Given the description of an element on the screen output the (x, y) to click on. 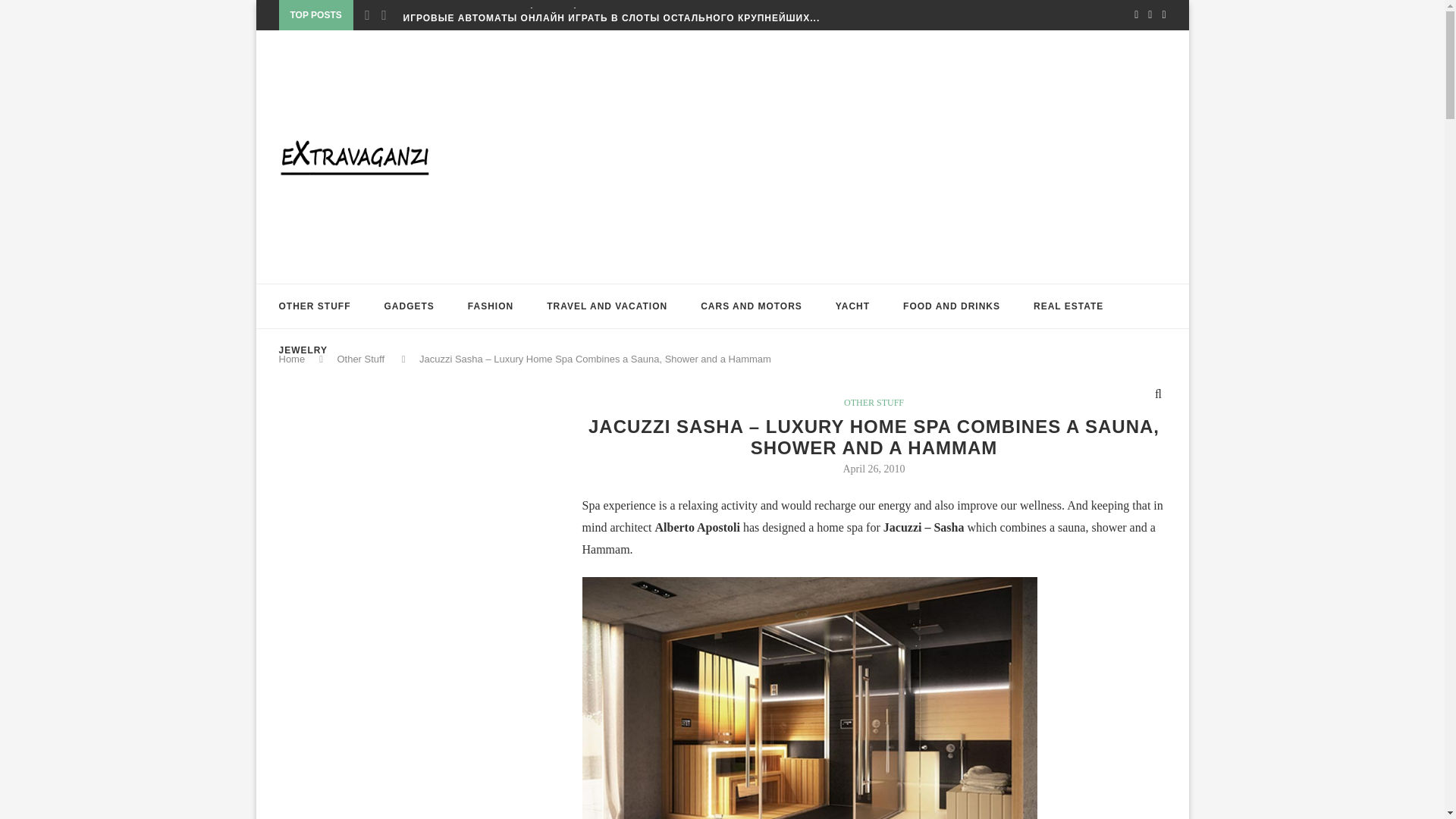
Jacuzzi Sasha - Complete Home Spa (817, 583)
Jacuzzi Sasha - Complete Home Spa (809, 698)
FASHION (490, 306)
View all posts in Other Stuff (874, 402)
REAL ESTATE (1068, 306)
GADGETS (408, 306)
CARS AND MOTORS (751, 306)
FOOD AND DRINKS (951, 306)
OTHER STUFF (314, 306)
TRAVEL AND VACATION (606, 306)
